Given the description of an element on the screen output the (x, y) to click on. 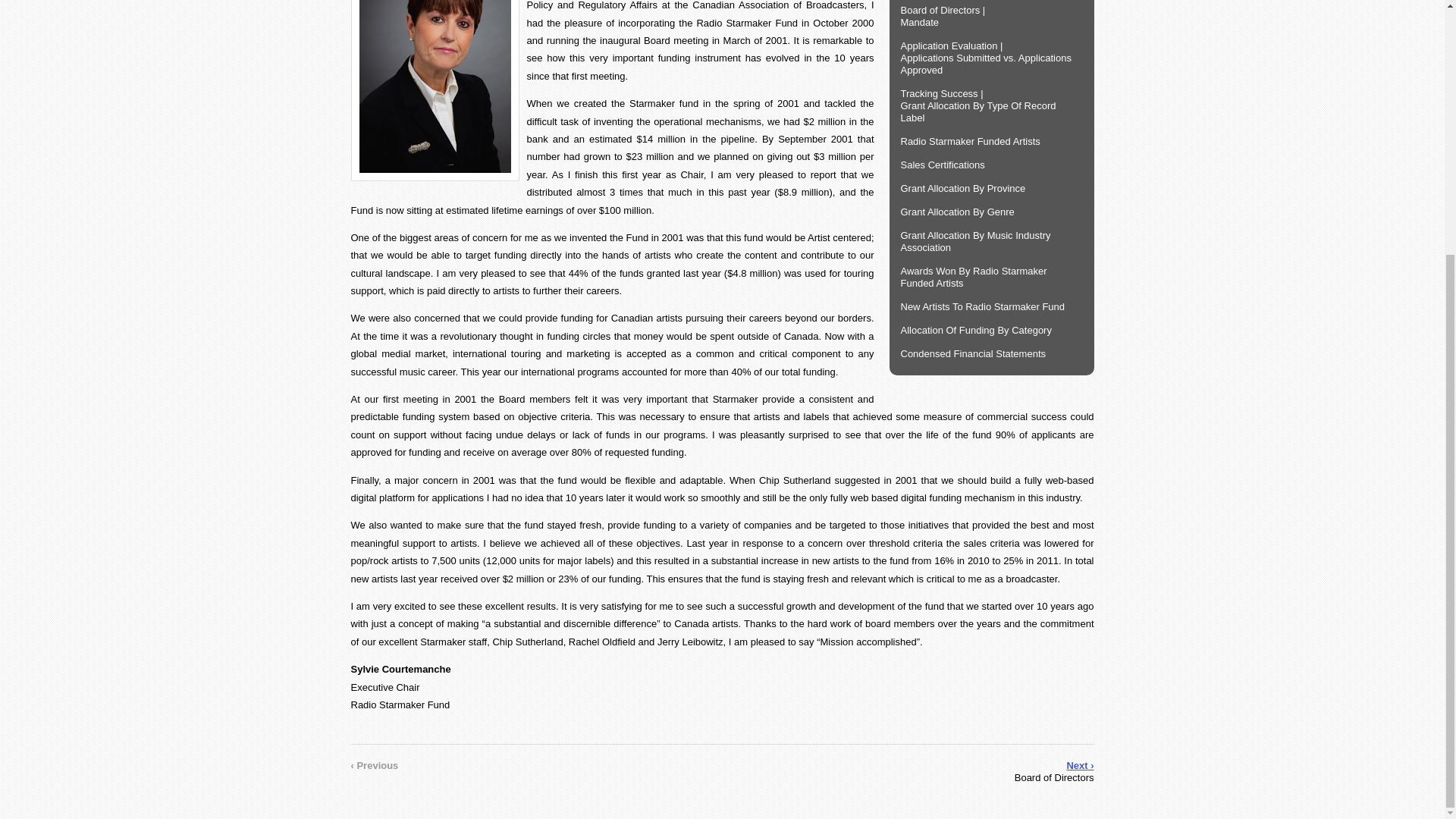
Sales Certifications (991, 165)
Grant Allocation By Genre (991, 211)
Grant Allocation By Province (991, 189)
Awards Won By Radio Starmaker Funded Artists (991, 277)
Condensed Financial Statements (991, 353)
New Artists To Radio Starmaker Fund (991, 306)
Allocation Of Funding By Category (991, 330)
Radio Starmaker Funded Artists (991, 141)
Grant Allocation By Music Industry Association (991, 241)
